Given the description of an element on the screen output the (x, y) to click on. 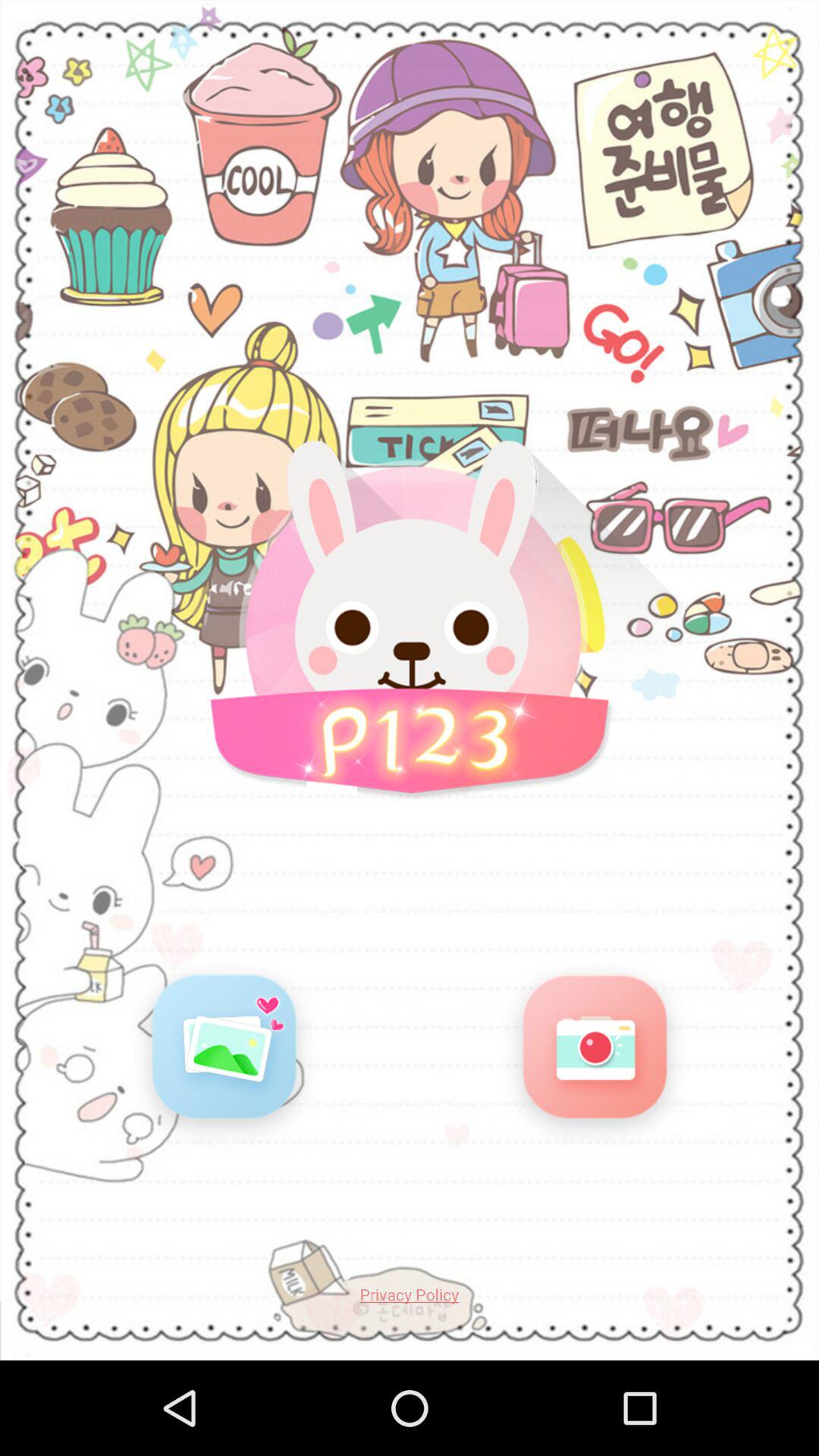
switch to camera (594, 1053)
